Given the description of an element on the screen output the (x, y) to click on. 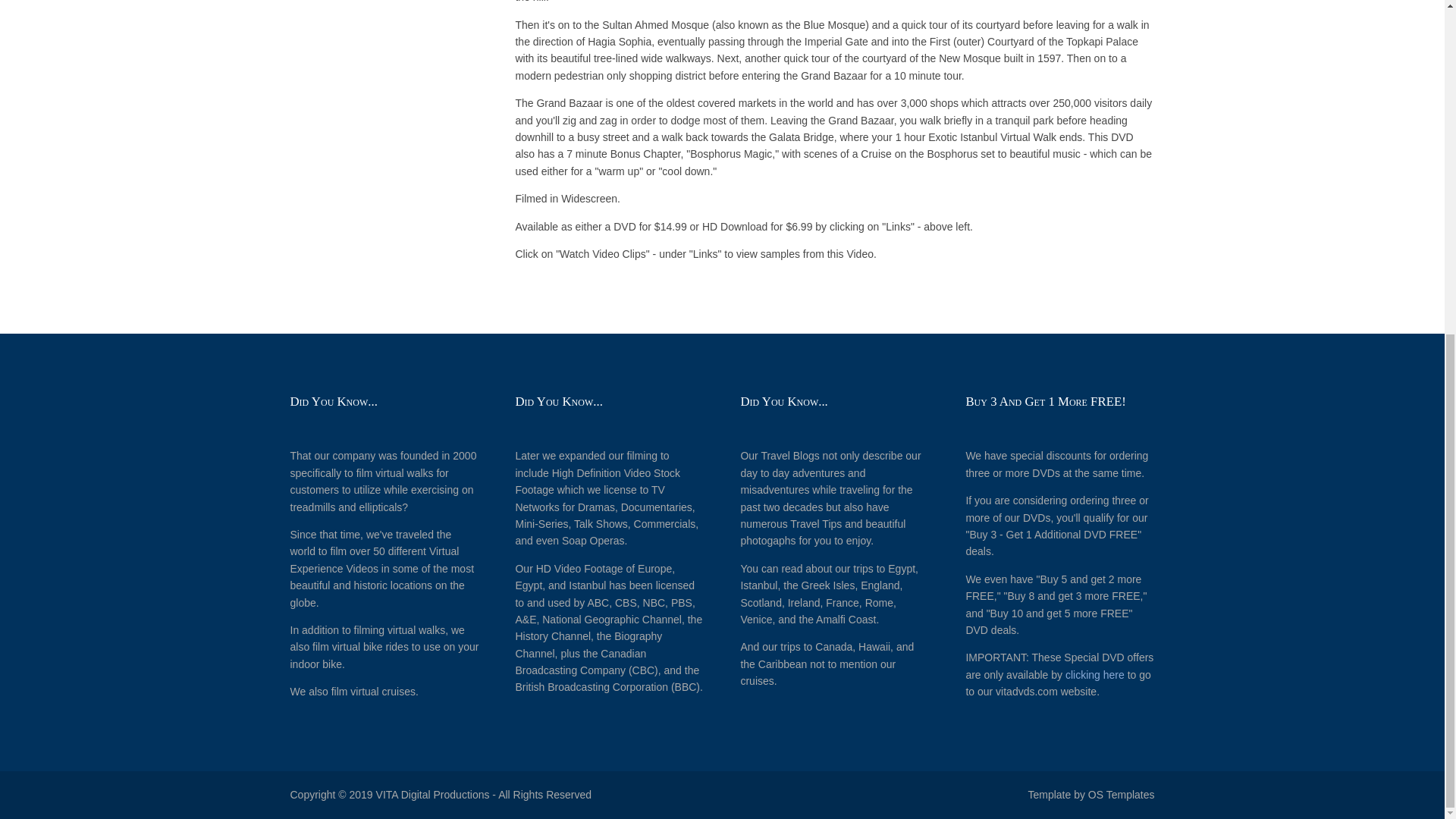
OS Templates (1120, 794)
clicking here (1094, 674)
Free Website Templates (1120, 794)
